Given the description of an element on the screen output the (x, y) to click on. 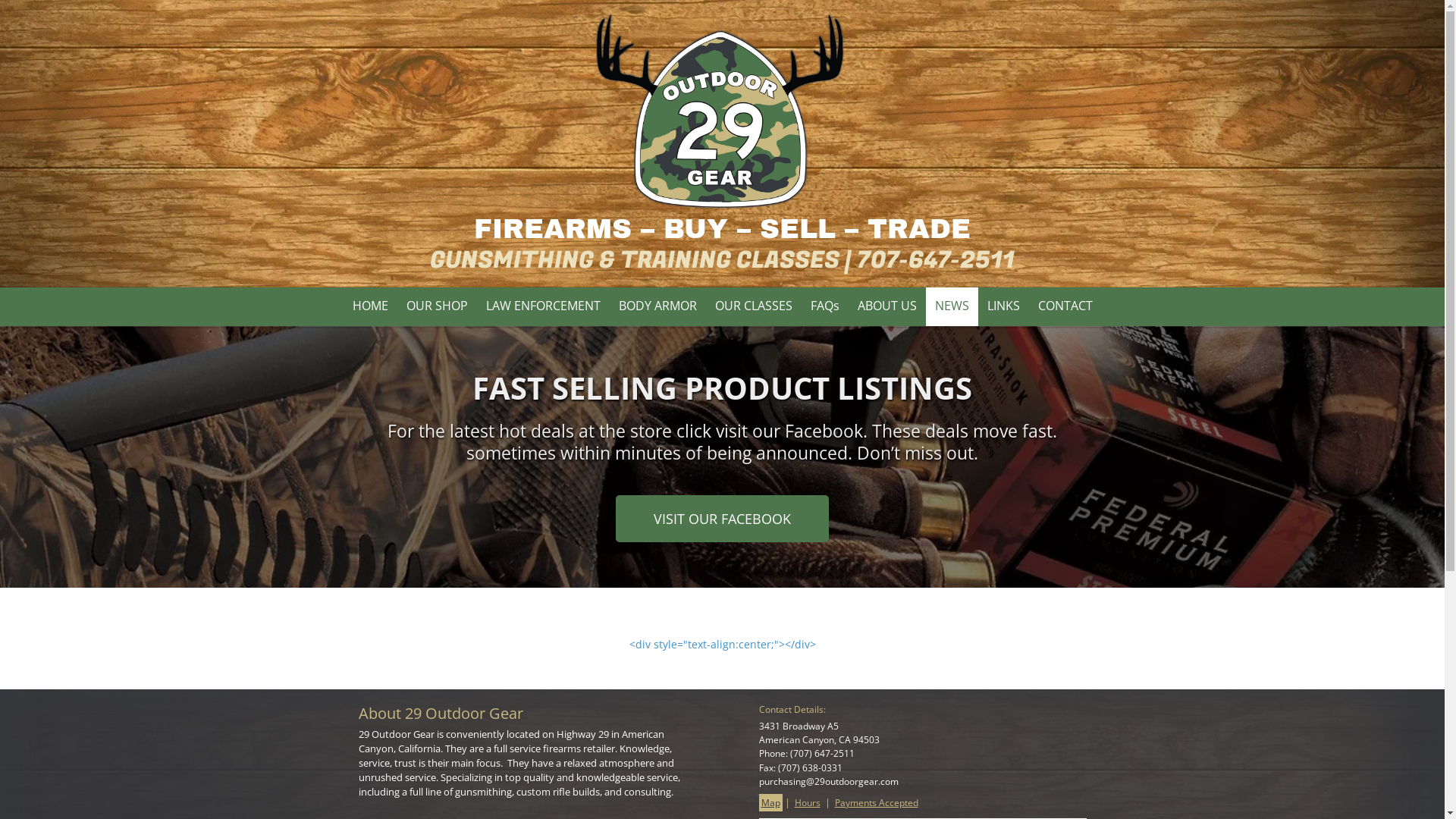
LINKS Element type: text (1003, 306)
HOME Element type: text (369, 306)
LAW ENFORCEMENT Element type: text (542, 306)
purchasing@29outdoorgear.com Element type: text (827, 781)
NEWS Element type: text (951, 306)
(707) 647-2511 Element type: text (822, 752)
<div style="text-align:center;"></div> Element type: text (722, 644)
BODY ARMOR Element type: text (657, 306)
OUR CLASSES Element type: text (752, 306)
Hours Element type: text (806, 802)
ABOUT US Element type: text (886, 306)
VISIT OUR FACEBOOK Element type: text (721, 518)
Payments Accepted Element type: text (876, 802)
CONTACT Element type: text (1064, 306)
OUR SHOP Element type: text (436, 306)
Map Element type: text (769, 802)
FAQs Element type: text (823, 306)
